Given the description of an element on the screen output the (x, y) to click on. 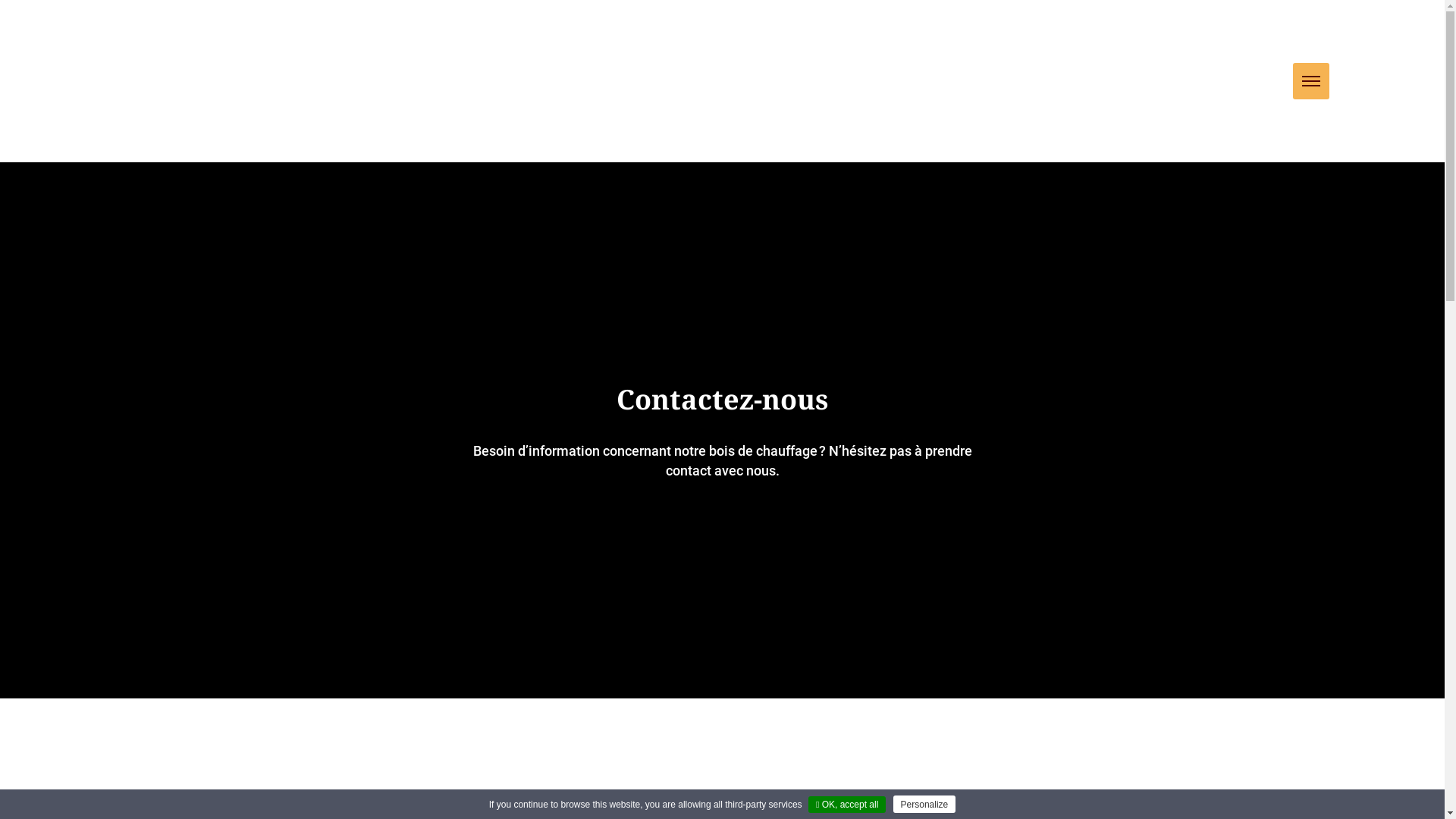
Personalize Element type: text (924, 803)
Menu Element type: text (1310, 80)
